Given the description of an element on the screen output the (x, y) to click on. 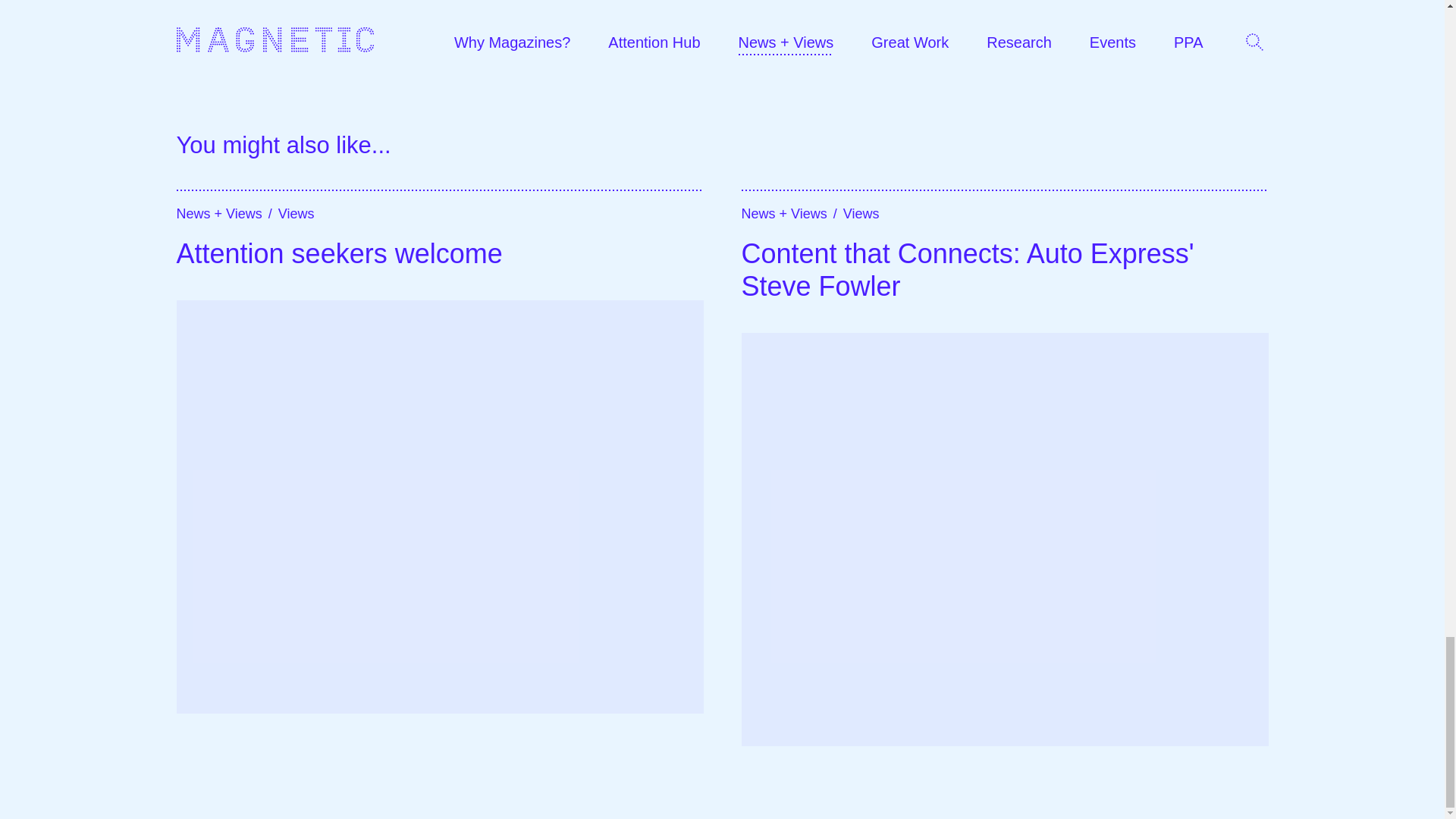
Attention seekers welcome (439, 253)
View all posts in Views (296, 214)
Content that Connects: Auto Express' Steve Fowler (1004, 269)
Campaign (665, 4)
View all posts in Views (861, 214)
Views (861, 214)
Views (296, 214)
